Given the description of an element on the screen output the (x, y) to click on. 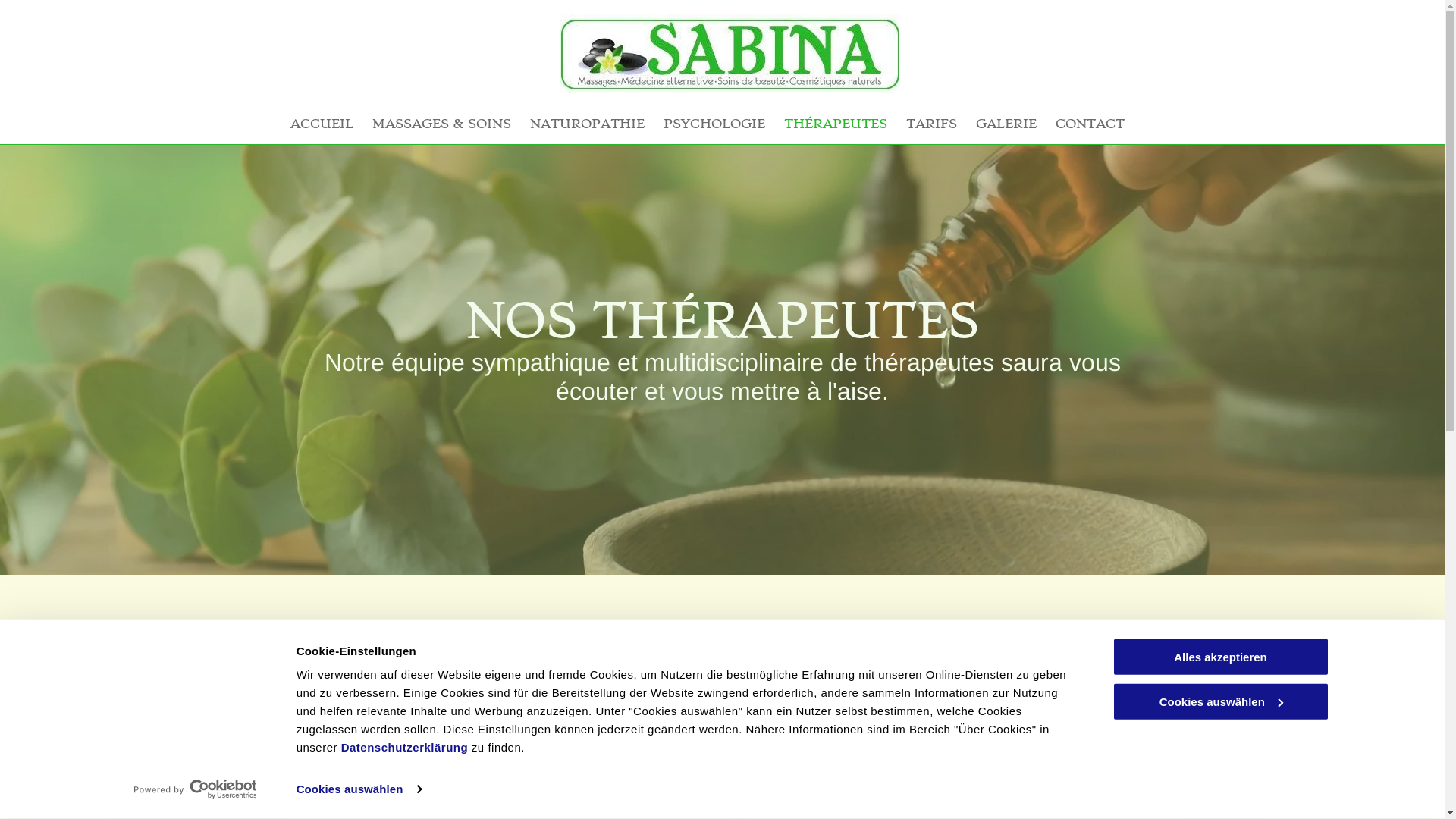
PSYCHOLOGIE Element type: text (713, 123)
ACCUEIL Element type: text (320, 123)
Alles akzeptieren Element type: text (1219, 656)
GALERIE Element type: text (1005, 123)
MASSAGES & SOINS Element type: text (440, 123)
NATUROPATHIE Element type: text (586, 123)
TARIFS Element type: text (930, 123)
CONTACT Element type: text (1089, 123)
